Given the description of an element on the screen output the (x, y) to click on. 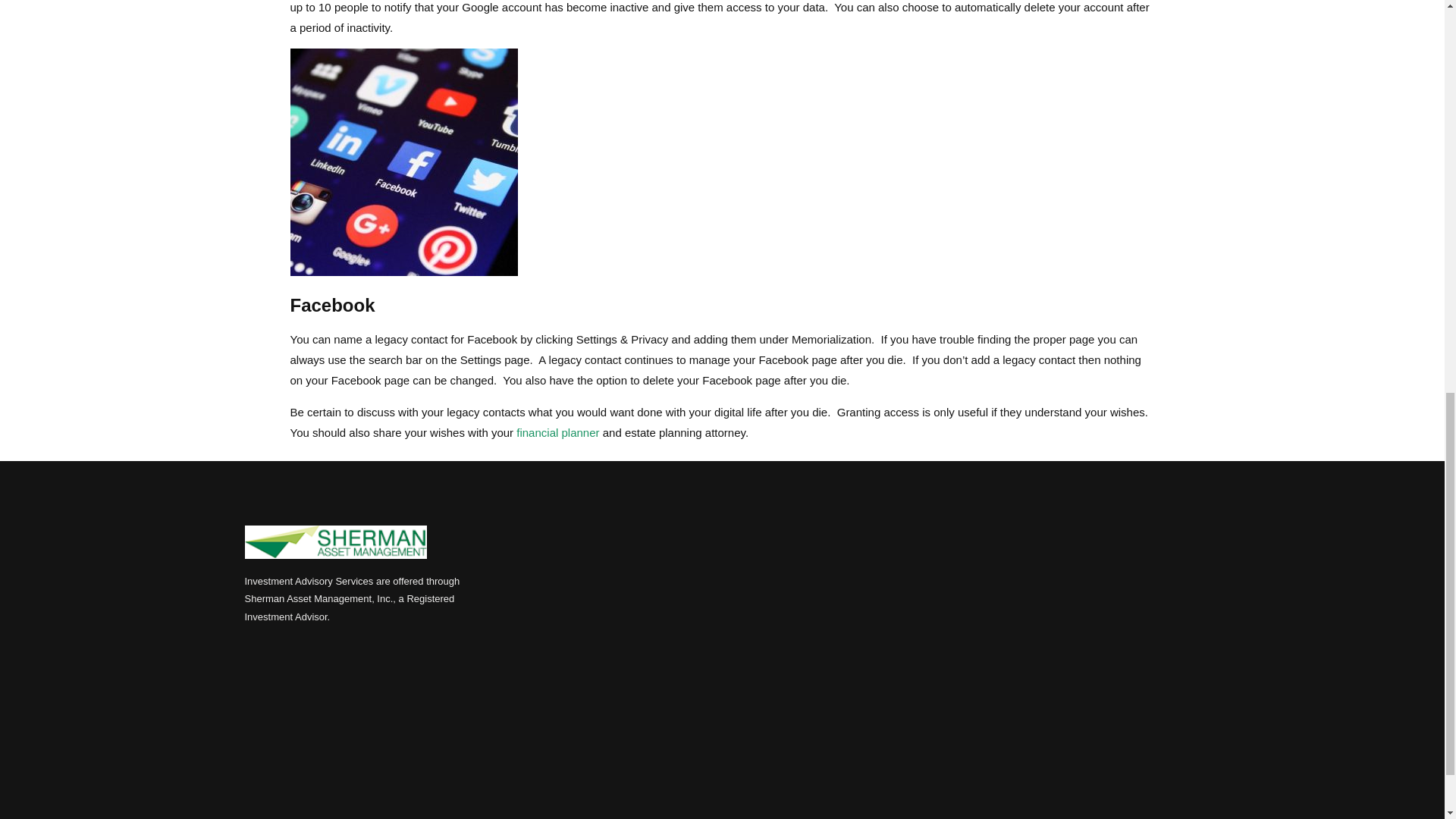
financial planner (557, 431)
